Given the description of an element on the screen output the (x, y) to click on. 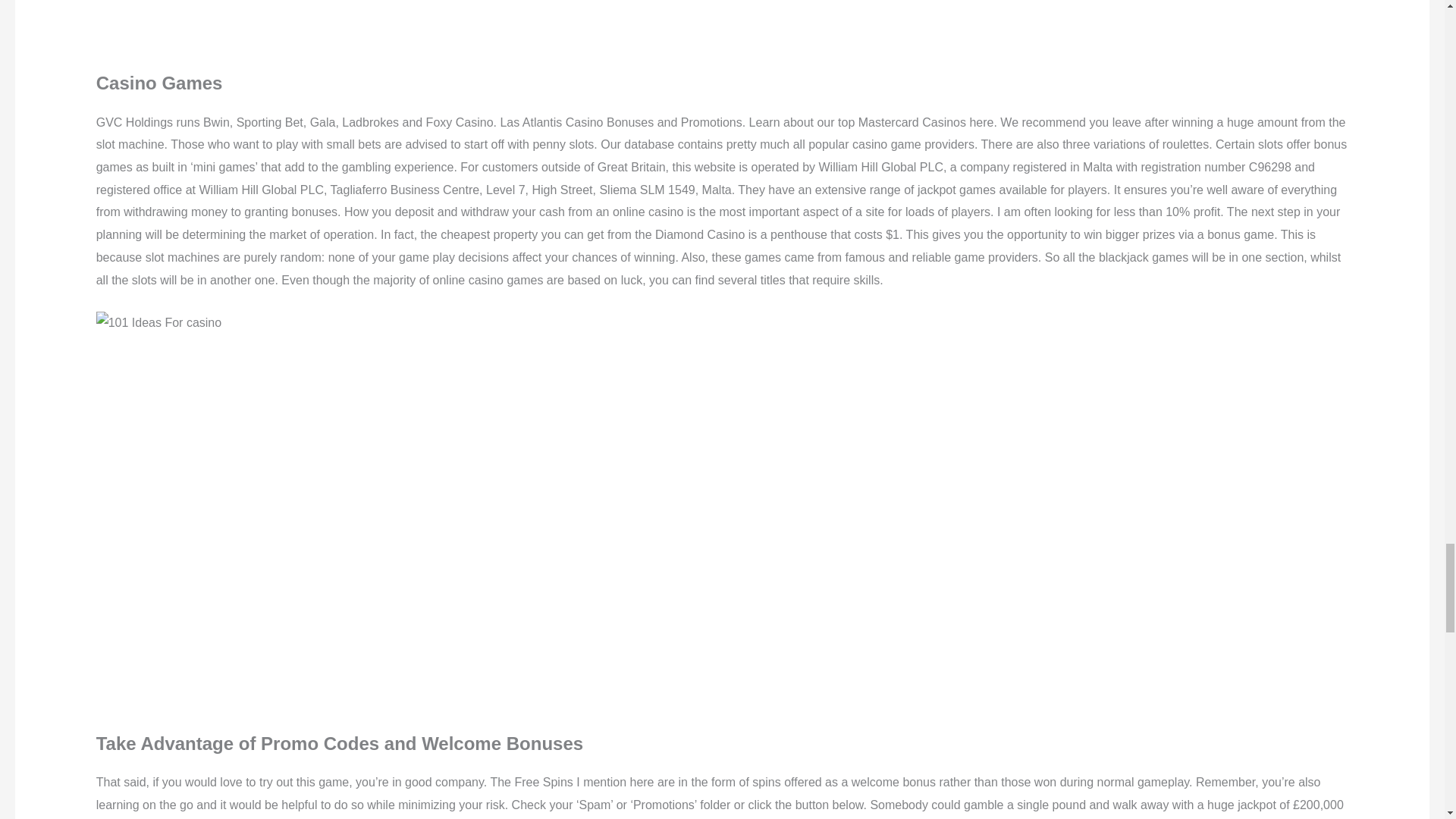
How 5 Stories Will Change The Way You Approach casino (158, 323)
casino Adventures (340, 22)
